Given the description of an element on the screen output the (x, y) to click on. 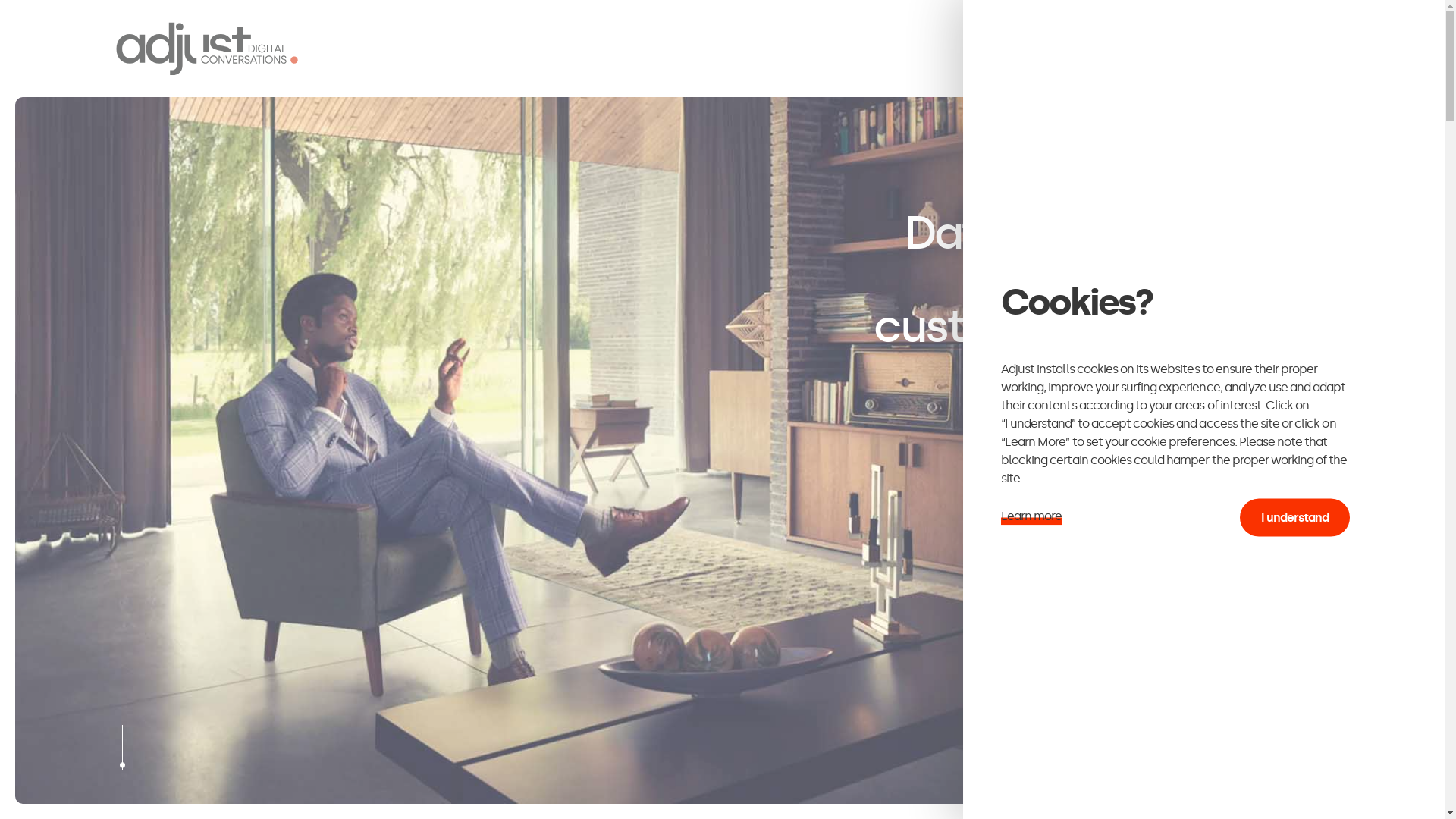
Terms and conditions Element type: text (1124, 792)
Avenue Arnaud Fraiteur 15-23
1050 Bruxelles
Belgium Element type: text (395, 554)
Privacy Element type: text (1057, 792)
Learn more Element type: text (1031, 515)
hello@adjust.be Element type: text (563, 536)
I understand Element type: text (1294, 517)
Code of conduct Element type: text (1211, 792)
BUSINESS INTELLIGENCE
TRAINING PROGRAM Element type: text (1157, 48)
